Given the description of an element on the screen output the (x, y) to click on. 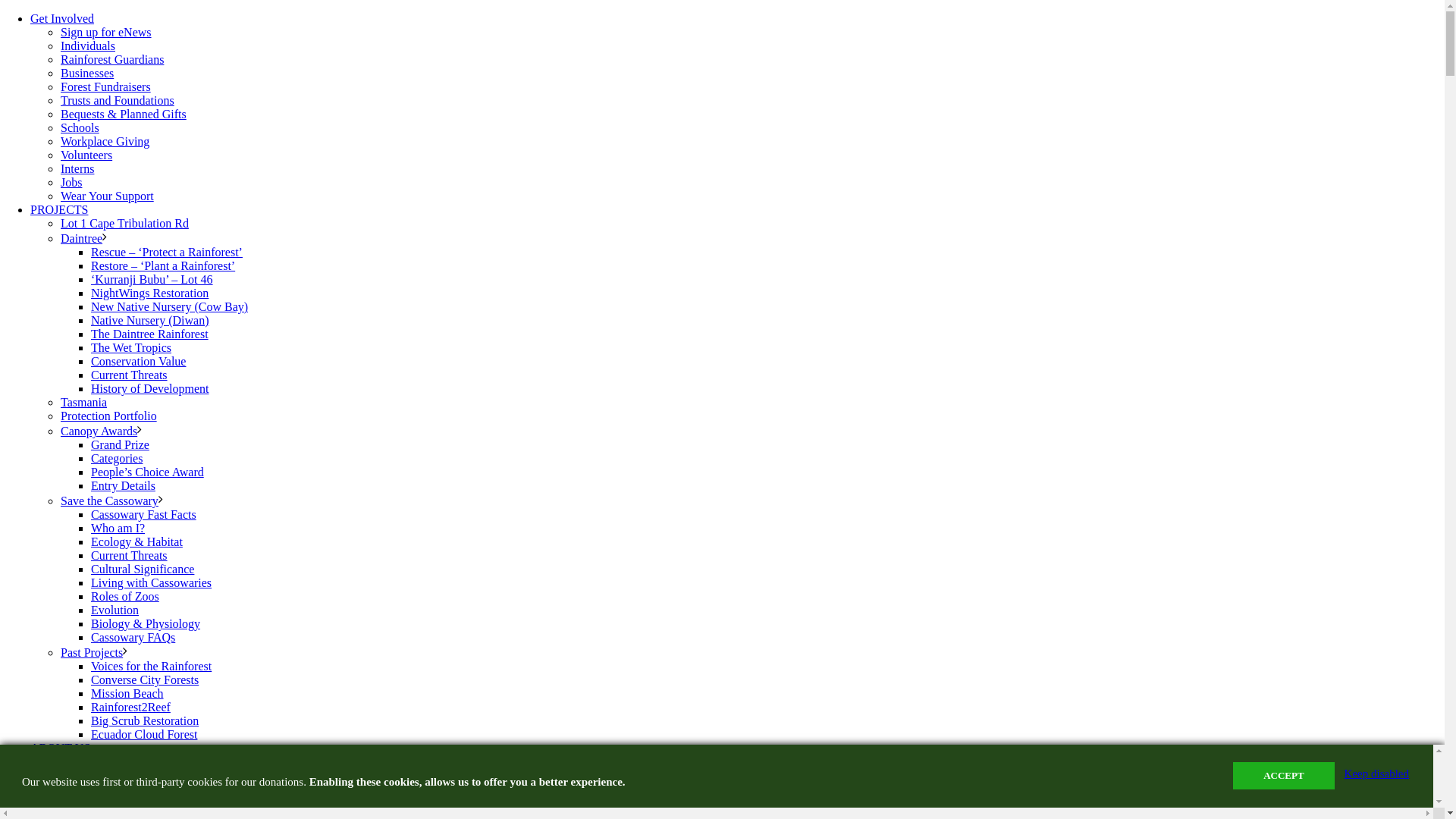
Tasmania Element type: text (83, 398)
Grand Prize Element type: text (120, 440)
ABOUT US Element type: text (60, 747)
Cassowary Fast Facts Element type: text (143, 510)
Sign up for eNews Element type: text (105, 28)
Individuals Element type: text (87, 41)
Roles of Zoos Element type: text (125, 592)
Current Threats Element type: text (129, 551)
Biology & Physiology Element type: text (145, 619)
Mission Beach Element type: text (127, 689)
Ecology & Habitat Element type: text (136, 537)
Keep disabled Element type: text (1376, 773)
ACCEPT Element type: text (1283, 775)
Cassowary FAQs Element type: text (133, 633)
Schools Element type: text (79, 123)
Protection Portfolio Element type: text (108, 411)
Daintree Element type: text (81, 234)
Interns Element type: text (77, 164)
Our Conservation Partners Element type: text (125, 798)
NightWings Restoration Element type: text (149, 289)
About Us Element type: text (83, 757)
Conservation Value Element type: text (138, 357)
Living with Cassowaries Element type: text (151, 578)
Rainforest2Reef Element type: text (130, 703)
Get Involved Element type: text (62, 18)
Entry Details Element type: text (123, 481)
Converse City Forests Element type: text (144, 675)
Jobs Element type: text (70, 178)
Categories Element type: text (116, 454)
Businesses Element type: text (86, 69)
The Daintree Rainforest Element type: text (149, 330)
Forest Fundraisers Element type: text (105, 82)
Lot 1 Cape Tribulation Rd Element type: text (124, 219)
Volunteers Element type: text (86, 151)
Workplace Giving Element type: text (104, 137)
Past Projects Element type: text (91, 648)
Save the Cassowary Element type: text (109, 496)
History of Development Element type: text (150, 384)
Evolution Element type: text (114, 606)
Voices for the Rainforest Element type: text (151, 662)
Trusts and Foundations Element type: text (117, 96)
Who am I? Element type: text (117, 524)
Canopy Awards Element type: text (98, 427)
Big Scrub Restoration Element type: text (144, 716)
The Wet Tropics Element type: text (131, 343)
Wear Your Support Element type: text (106, 192)
Ecuador Cloud Forest Element type: text (144, 730)
PROJECTS Element type: text (58, 209)
Board of Directors Element type: text (105, 785)
Bequests & Planned Gifts Element type: text (123, 110)
New Native Nursery (Cow Bay) Element type: text (169, 302)
Our Team Element type: text (84, 771)
Cultural Significance Element type: text (142, 565)
Rainforest Guardians Element type: text (111, 55)
Current Threats Element type: text (129, 370)
Native Nursery (Diwan) Element type: text (150, 316)
